Given the description of an element on the screen output the (x, y) to click on. 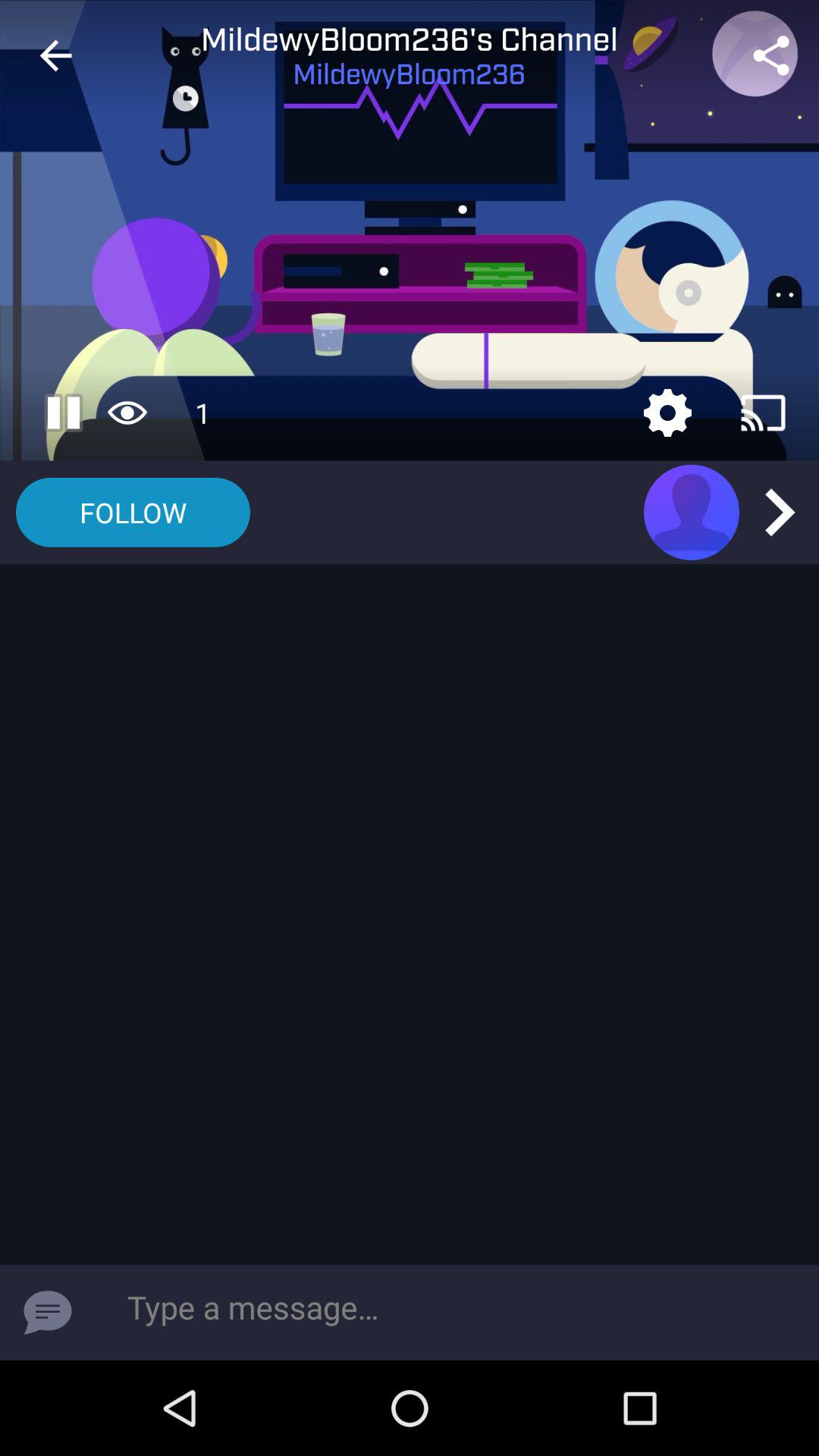
send message (47, 1312)
